Given the description of an element on the screen output the (x, y) to click on. 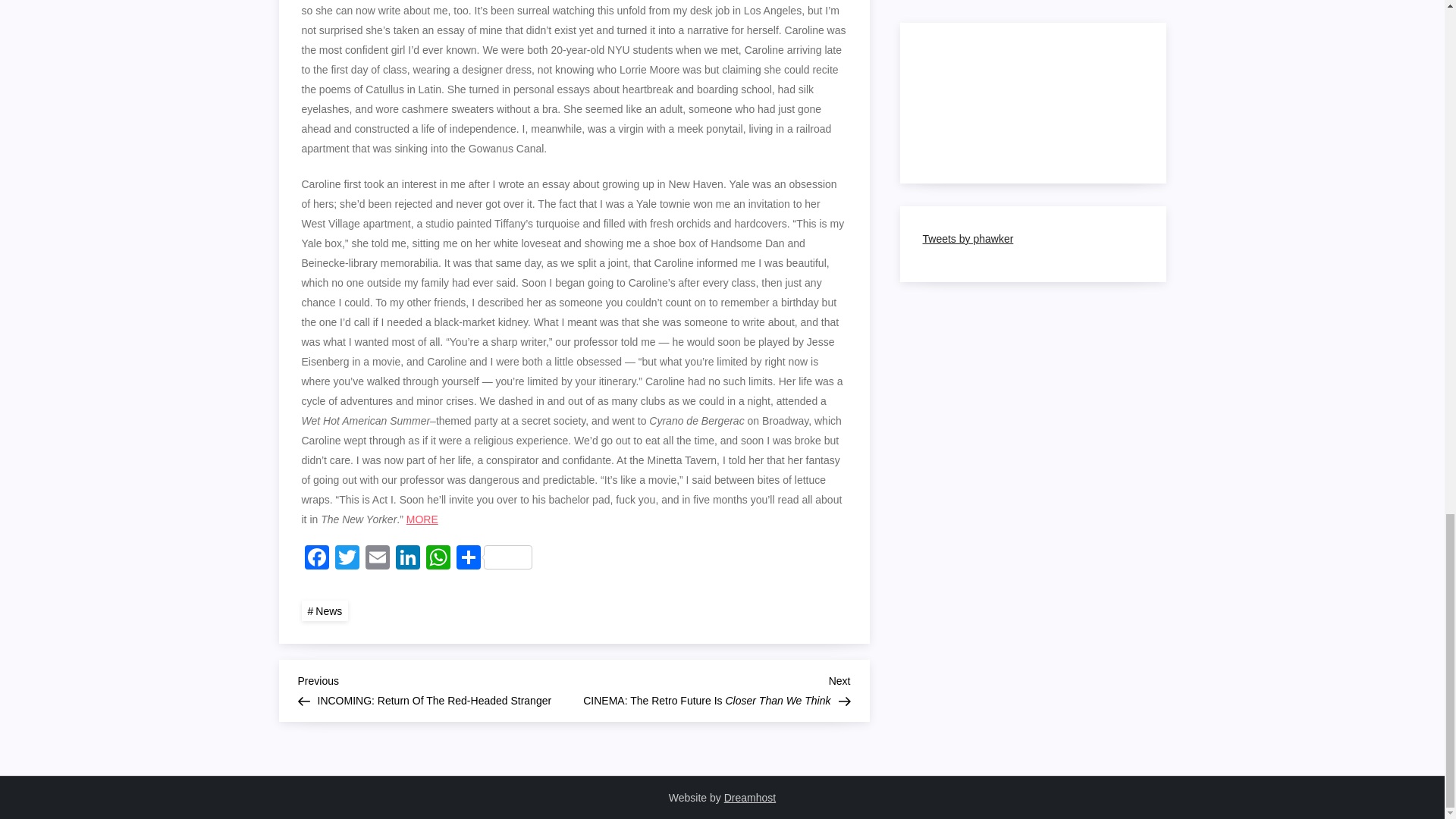
Email (377, 559)
WhatsApp (437, 559)
Twitter (346, 559)
WhatsApp (437, 559)
Dreamhost (749, 797)
LinkedIn (408, 559)
MORE (422, 519)
News (325, 610)
LinkedIn (408, 559)
